Given the description of an element on the screen output the (x, y) to click on. 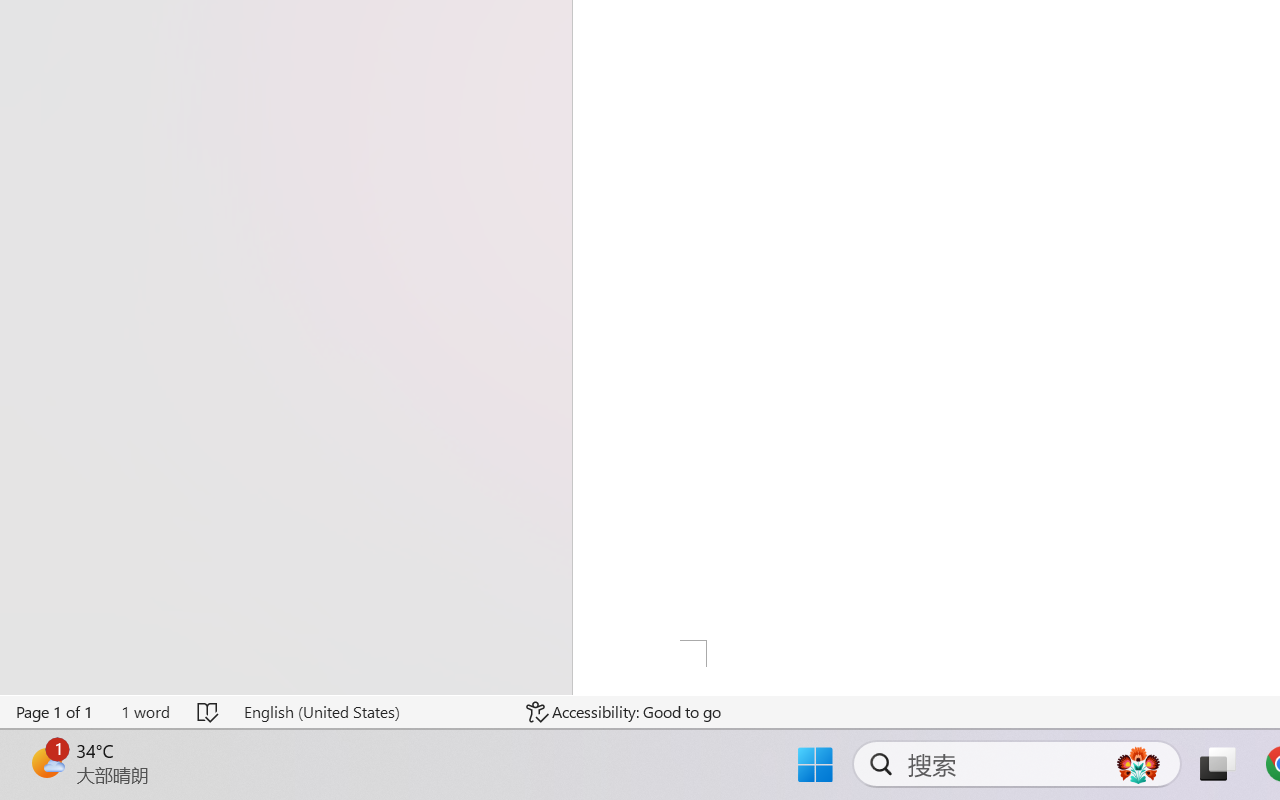
AutomationID: BadgeAnchorLargeTicker (46, 762)
Language English (United States) (370, 712)
Word Count 1 word (145, 712)
Spelling and Grammar Check No Errors (208, 712)
Accessibility Checker Accessibility: Good to go (623, 712)
Page Number Page 1 of 1 (55, 712)
AutomationID: DynamicSearchBoxGleamImage (1138, 764)
